Given the description of an element on the screen output the (x, y) to click on. 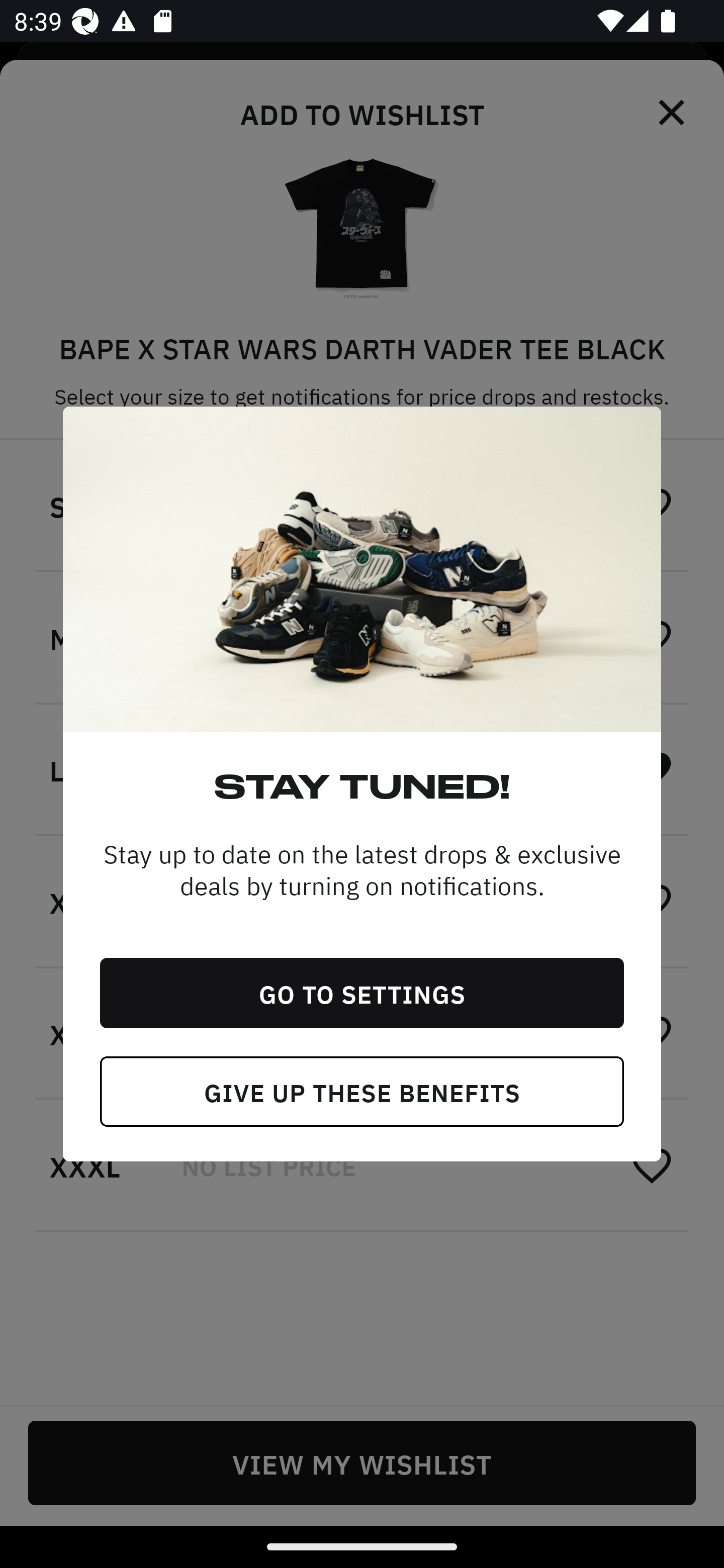
GO TO SETTINGS (361, 993)
GIVE UP THESE BENEFITS (361, 1091)
